Given the description of an element on the screen output the (x, y) to click on. 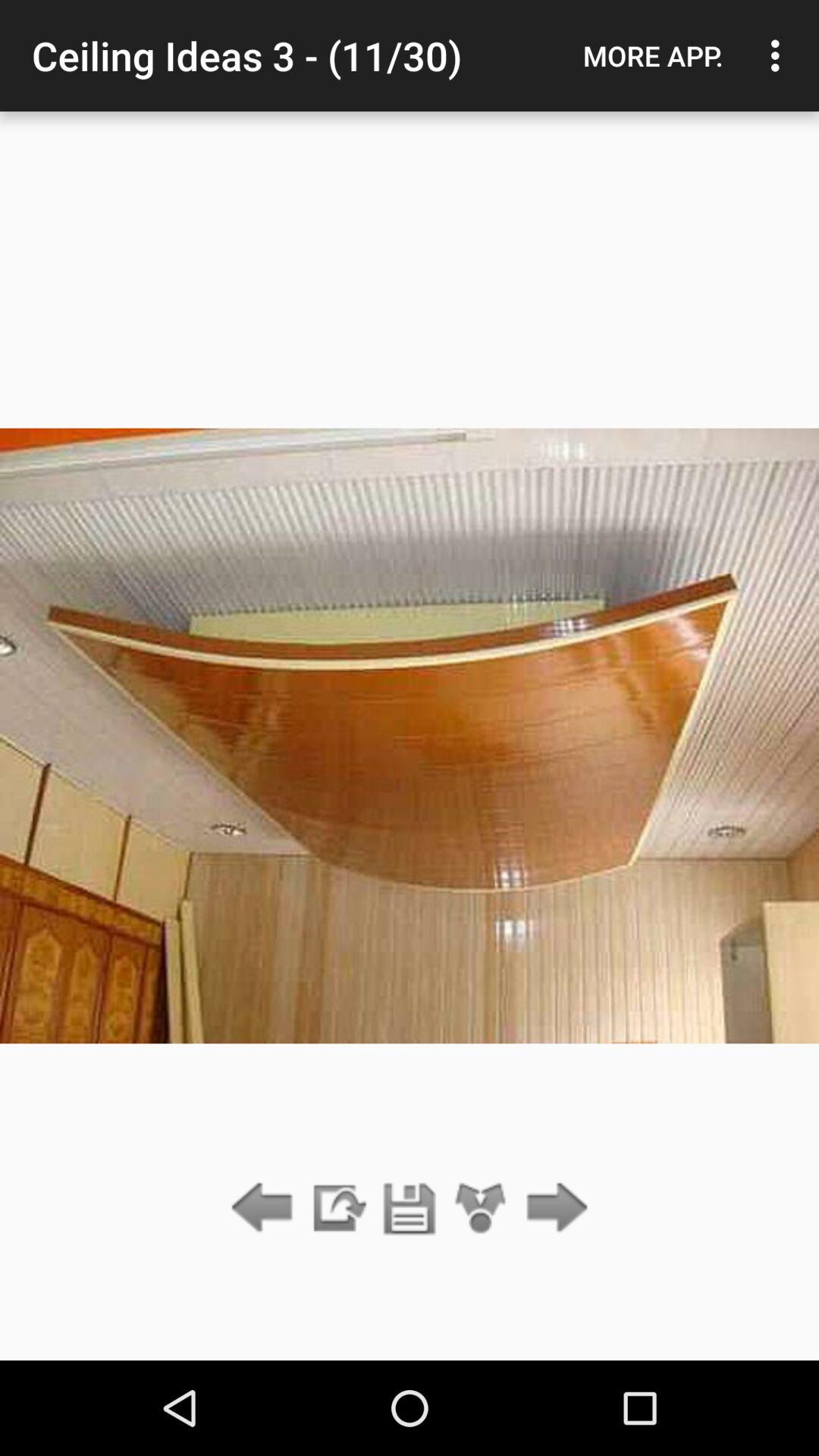
tap icon below the ceiling ideas 3 app (480, 1208)
